Given the description of an element on the screen output the (x, y) to click on. 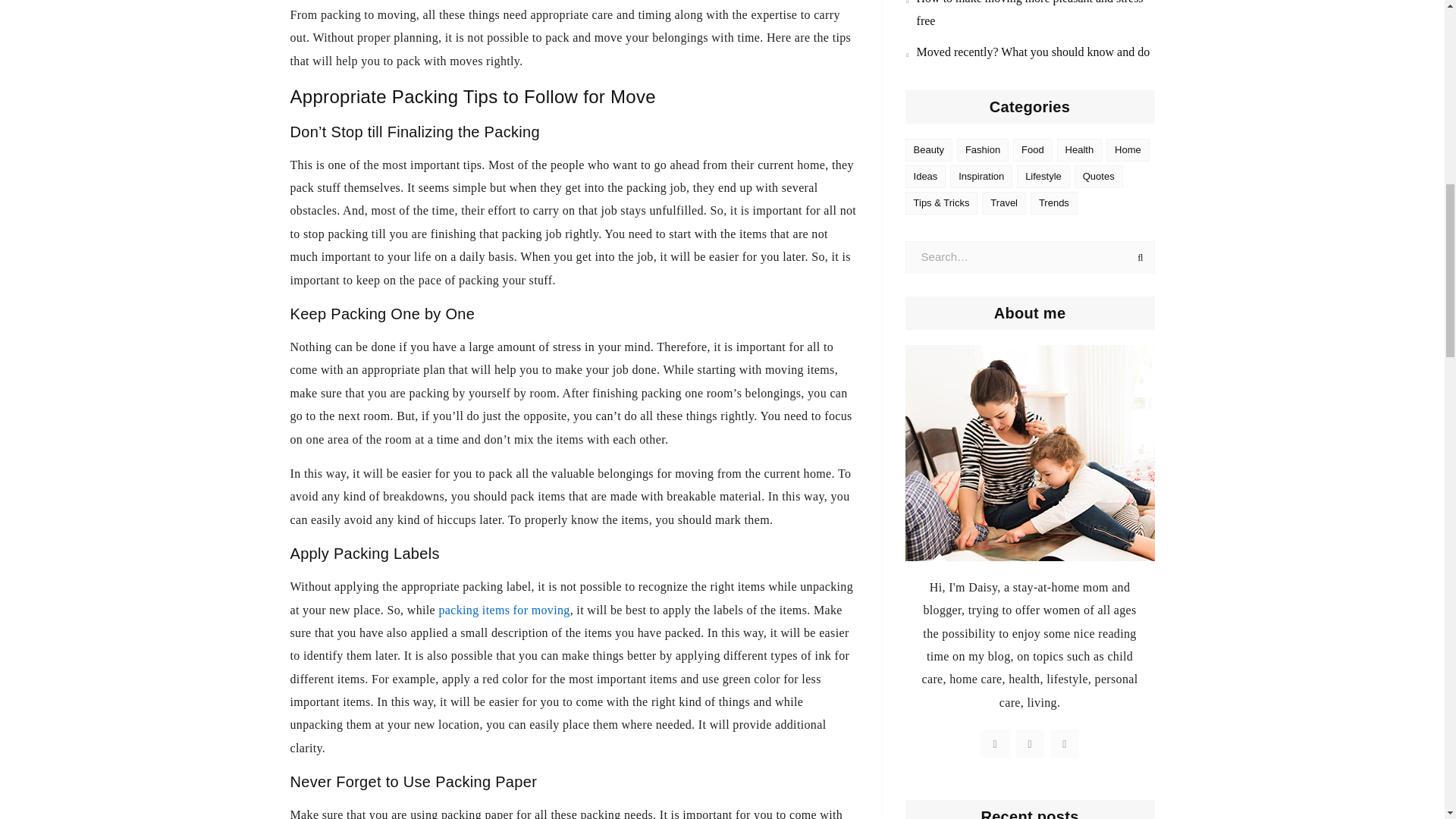
Search for: (1029, 256)
packing items for moving (503, 609)
